Given the description of an element on the screen output the (x, y) to click on. 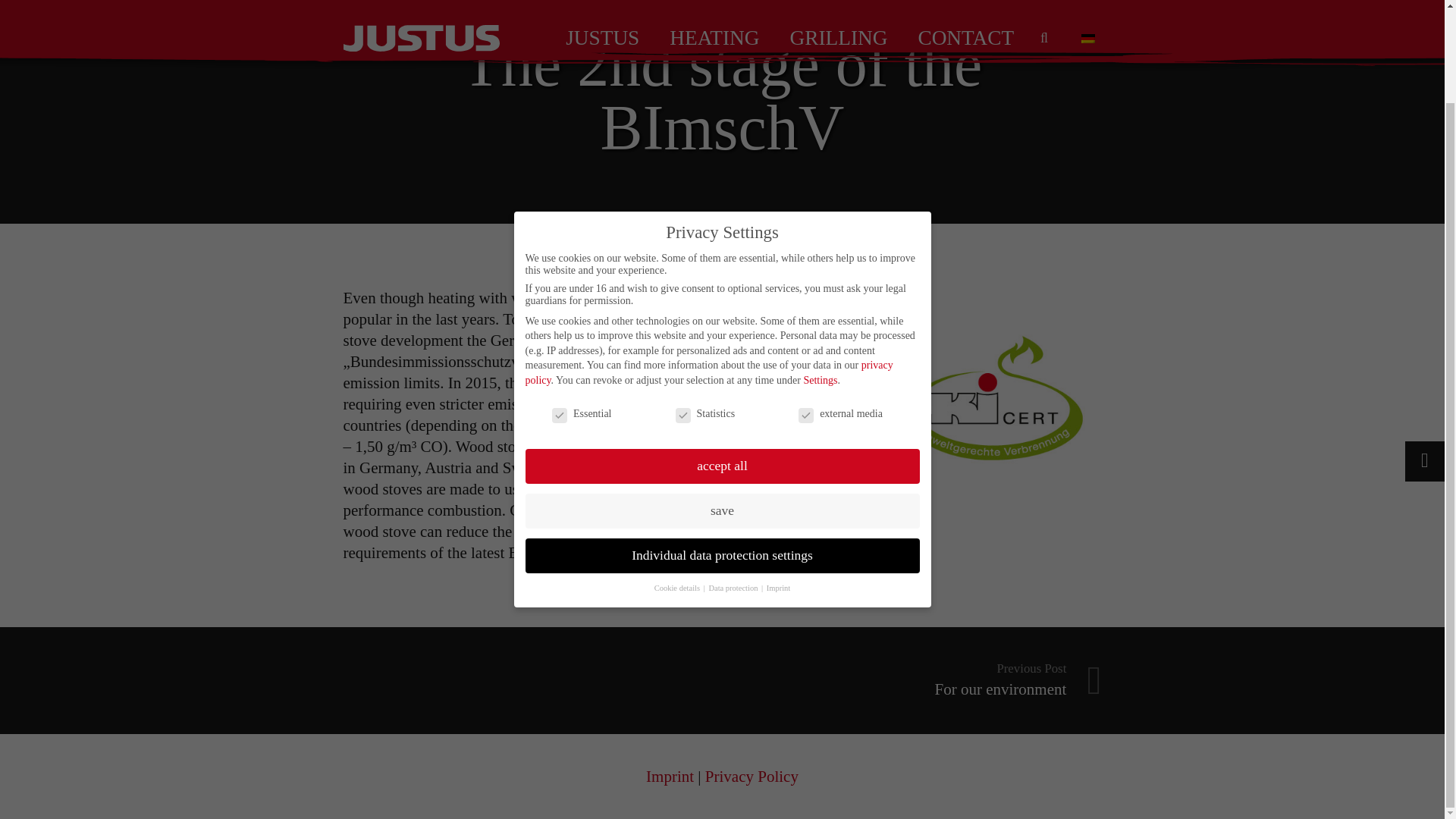
Data protection (733, 480)
save (721, 403)
Imprint (778, 480)
Imprint (911, 680)
Privacy Policy (670, 776)
accept all (750, 776)
Settings (721, 359)
Cookie details (820, 272)
Individual data protection settings (677, 480)
